Given the description of an element on the screen output the (x, y) to click on. 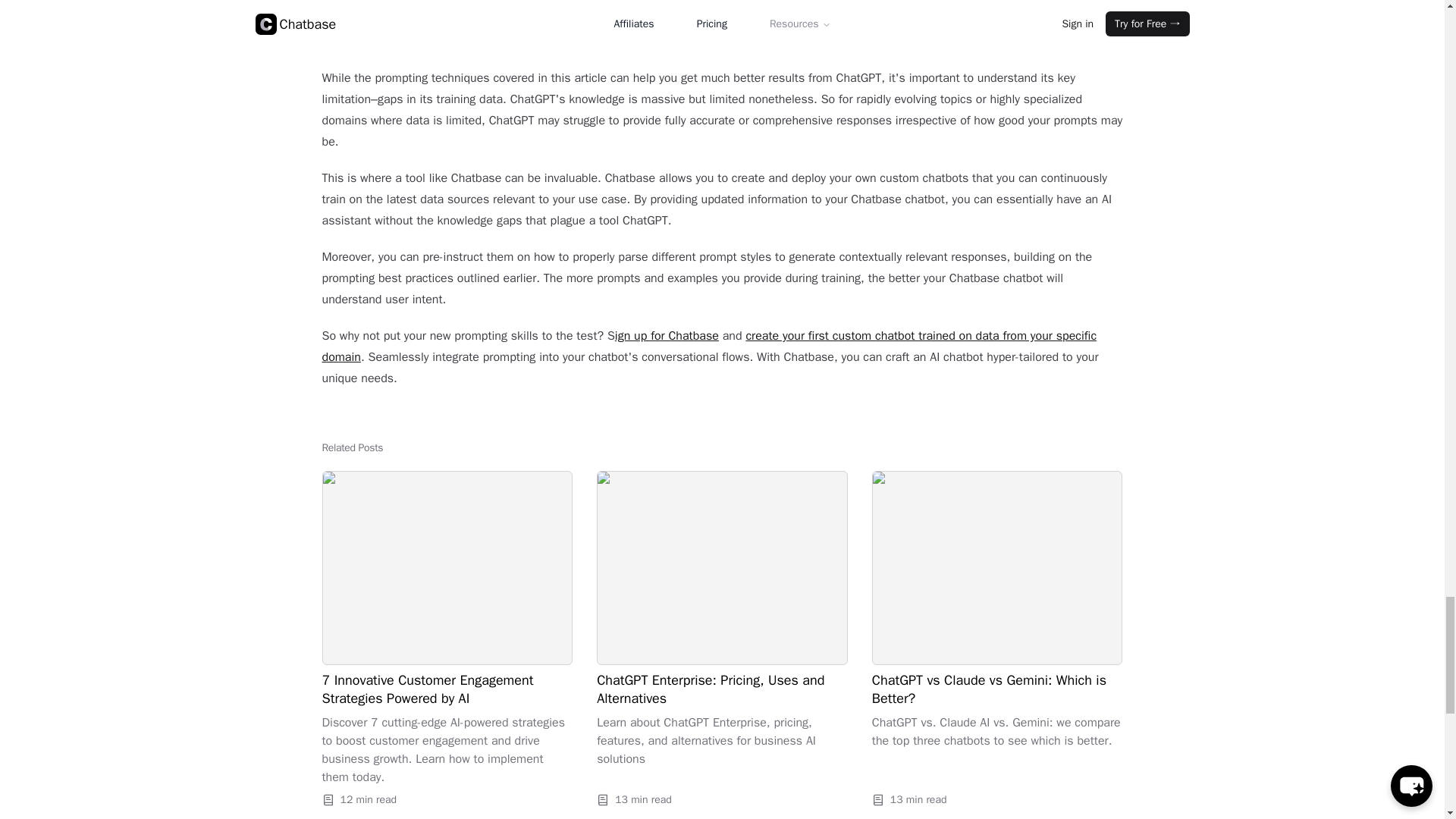
ign up for Chatbase (666, 335)
